Given the description of an element on the screen output the (x, y) to click on. 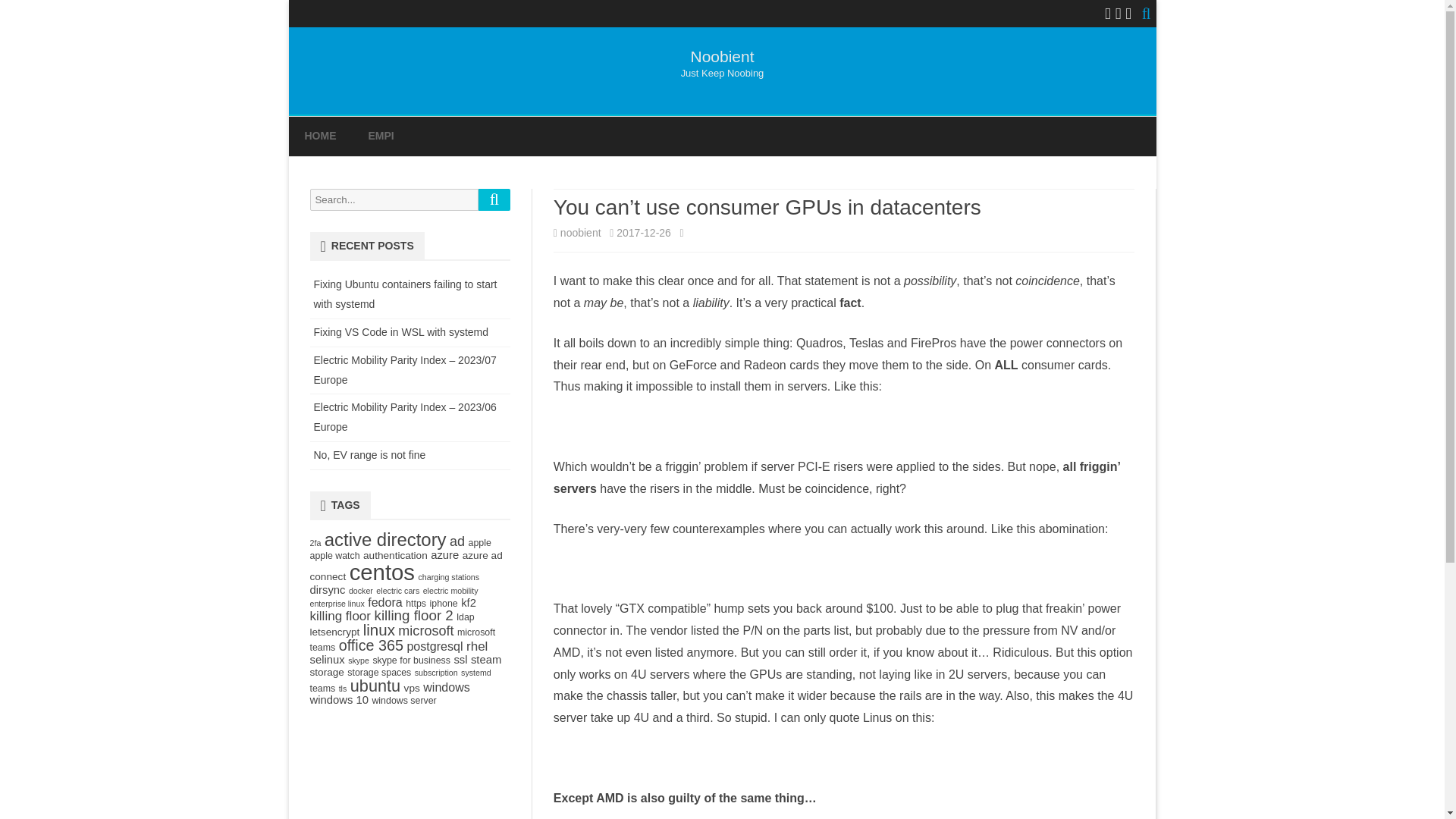
Search for: (392, 199)
Noobient (722, 56)
noobient (580, 232)
Noobient (722, 56)
No, EV range is not fine (370, 454)
Fixing Ubuntu containers failing to start with systemd (405, 294)
Search (495, 199)
2fa (314, 542)
Fixing VS Code in WSL with systemd (401, 331)
